Given the description of an element on the screen output the (x, y) to click on. 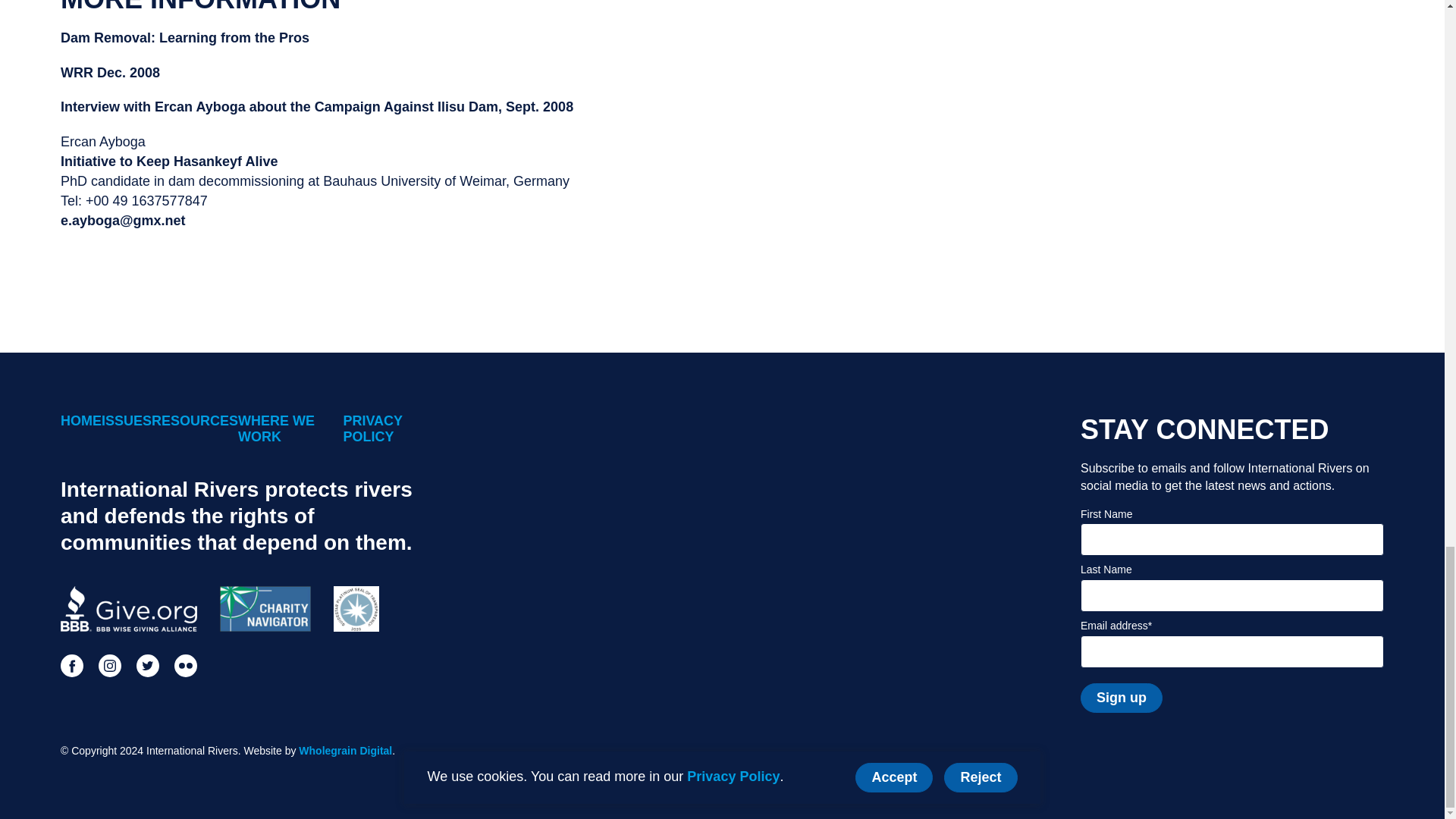
WRR Dec. 2008 (110, 72)
Initiative to Keep Hasankeyf Alive (169, 160)
Dam Removal: Learning from the Pros (184, 37)
